Given the description of an element on the screen output the (x, y) to click on. 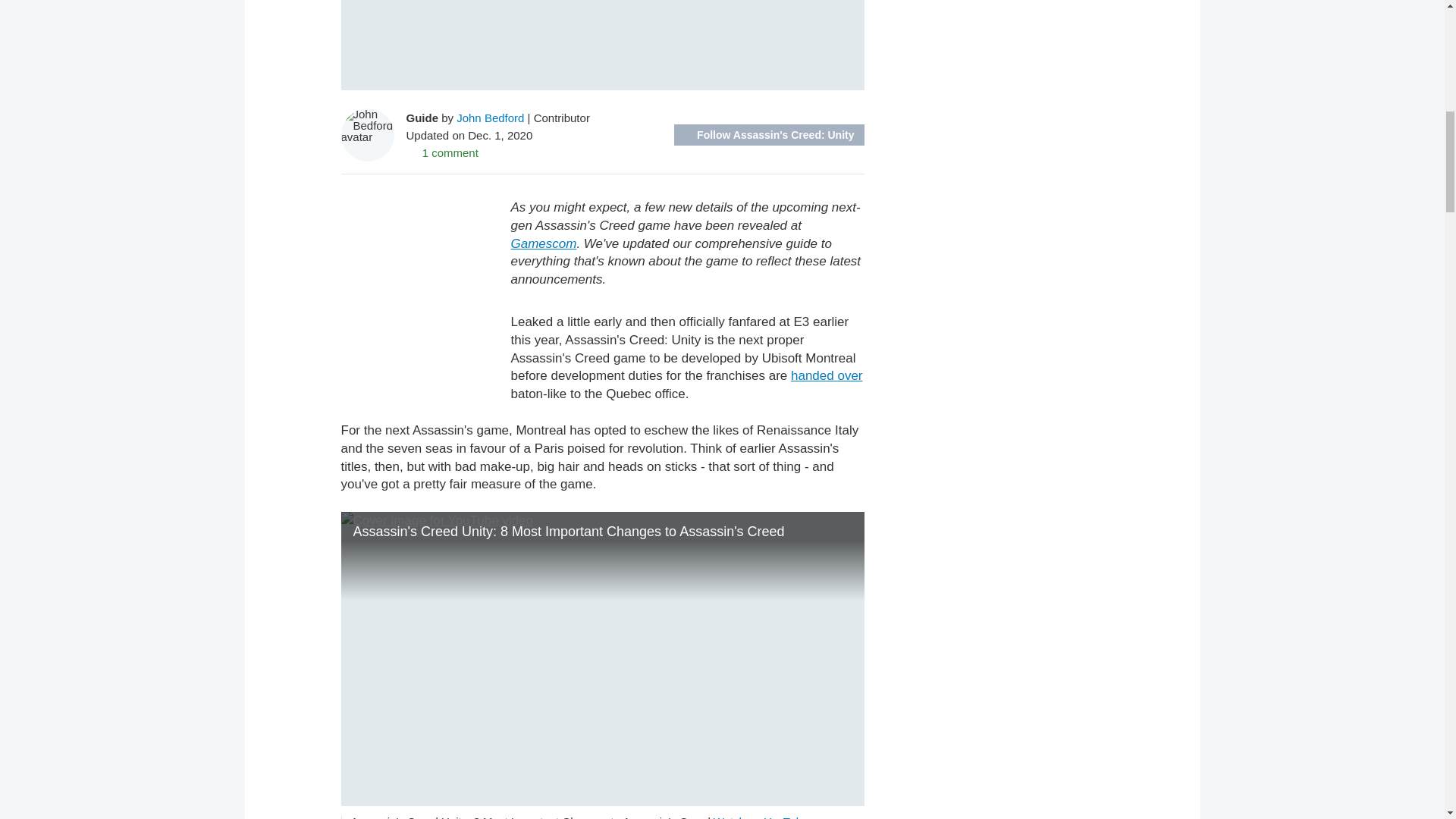
Gamescom (543, 243)
Follow Assassin's Creed: Unity (768, 134)
John Bedford (490, 116)
1 comment (442, 151)
handed over (826, 375)
Watch on YouTube (761, 816)
